Given the description of an element on the screen output the (x, y) to click on. 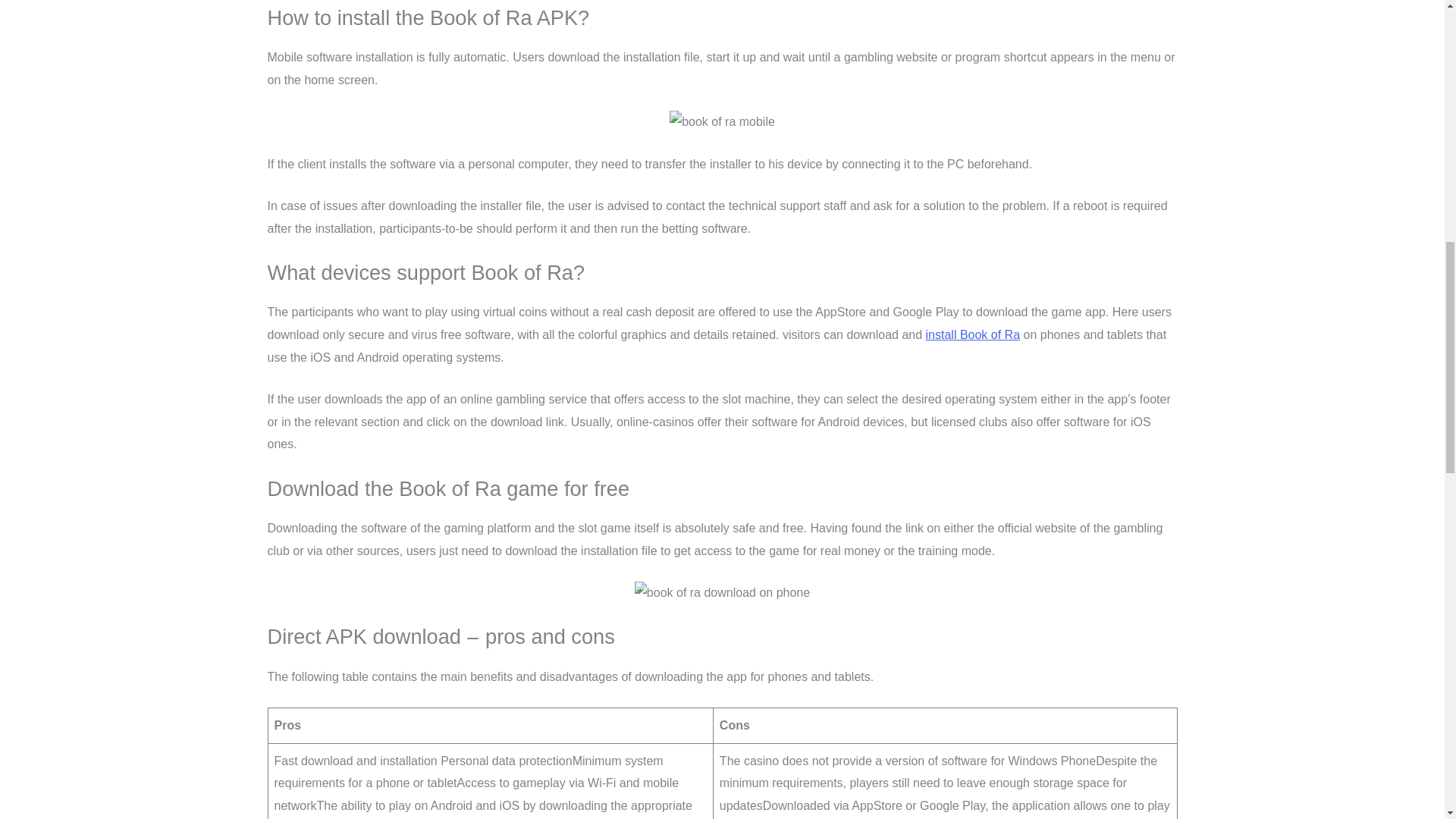
book of ra download on phone (721, 592)
book of ra mobile (721, 121)
